Given the description of an element on the screen output the (x, y) to click on. 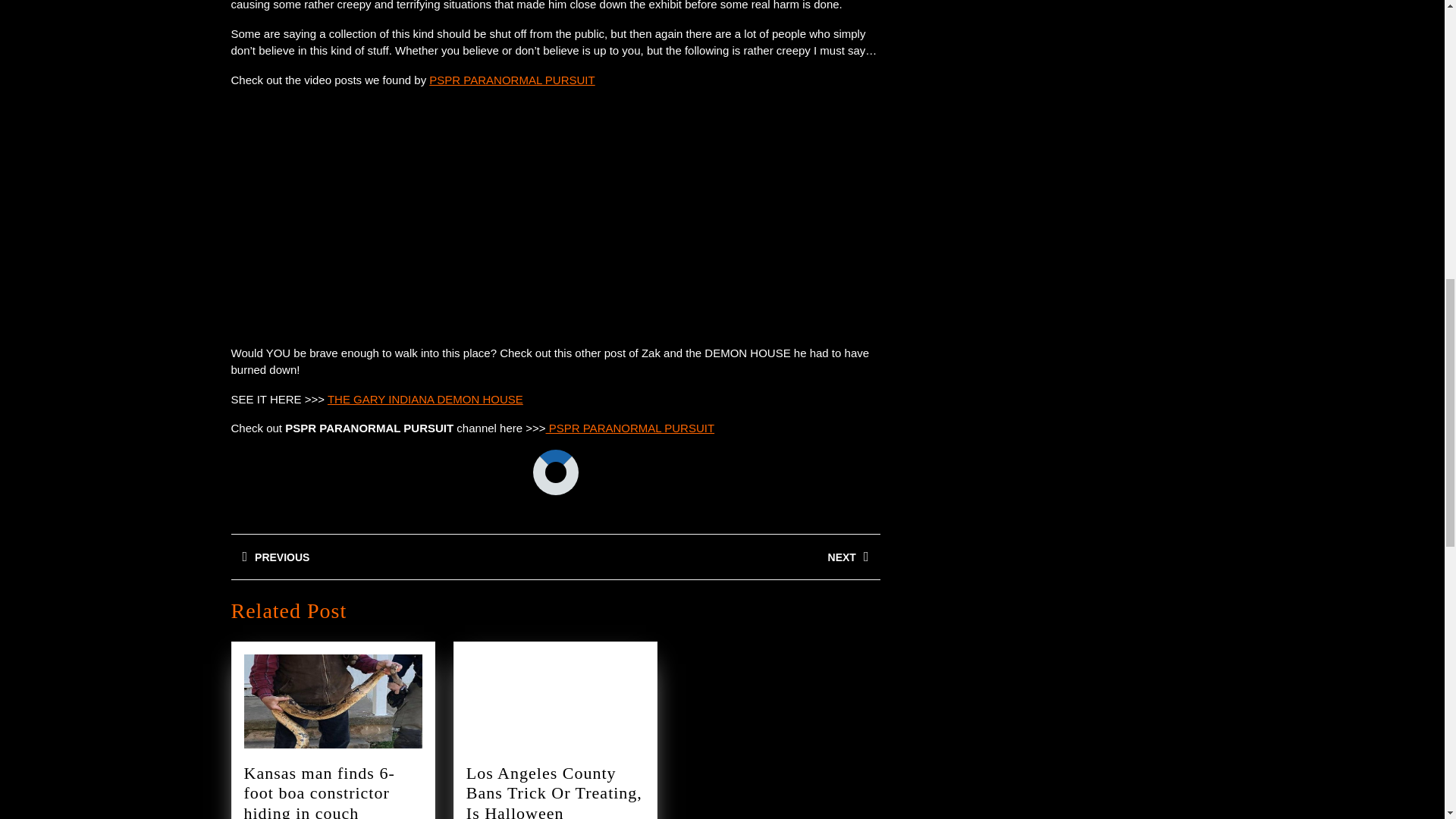
PSPR PARANORMAL PURSUIT (716, 556)
PSPR PARANORMAL PURSUIT (630, 427)
THE GARY INDIANA DEMON HOUSE (511, 79)
